Given the description of an element on the screen output the (x, y) to click on. 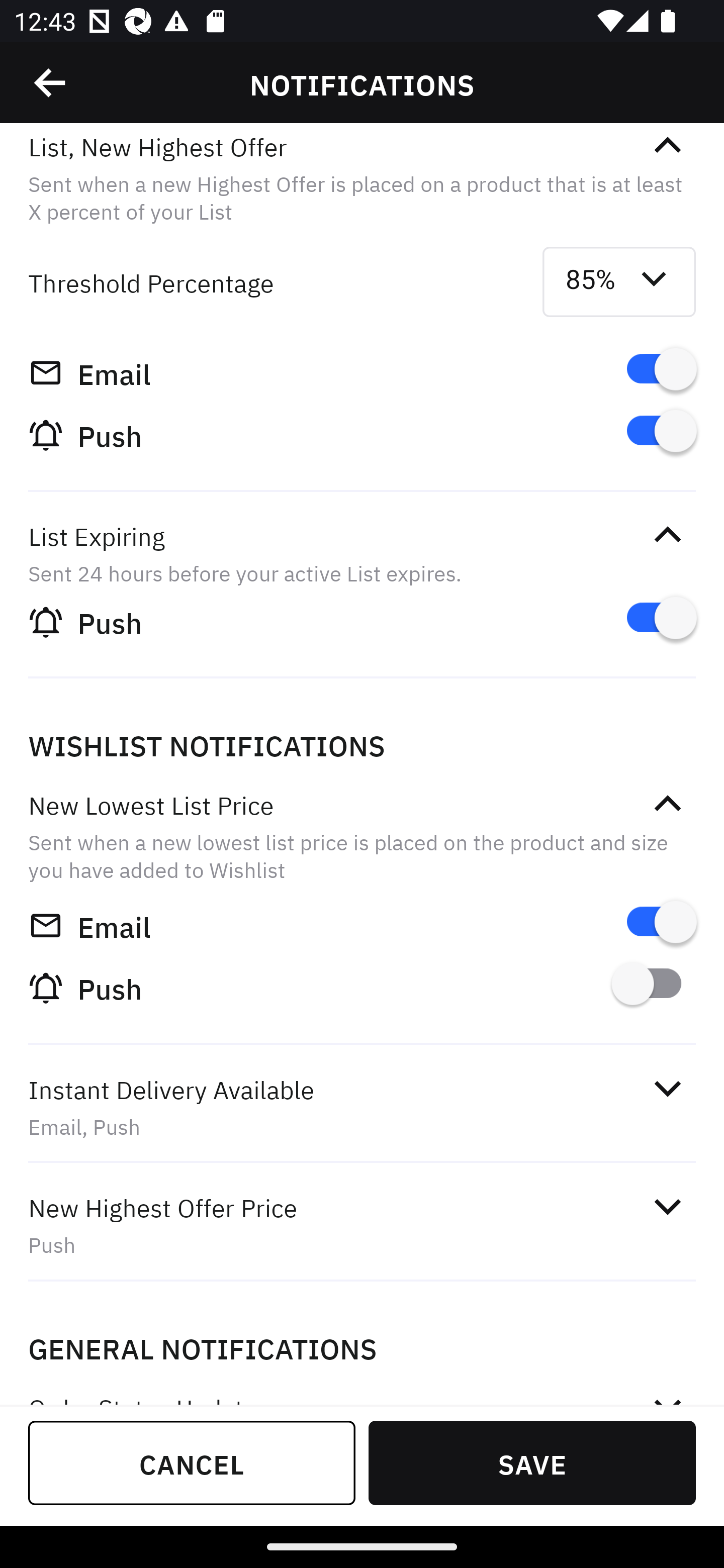
 (50, 83)
 (667, 145)
85%  (619, 282)
 (667, 535)
 (667, 803)
Instant Delivery Available  Email, Push (361, 1107)
 (667, 1088)
New Highest Offer Price  Push (361, 1225)
 (667, 1206)
CANCEL (191, 1462)
SAVE (531, 1462)
